Given the description of an element on the screen output the (x, y) to click on. 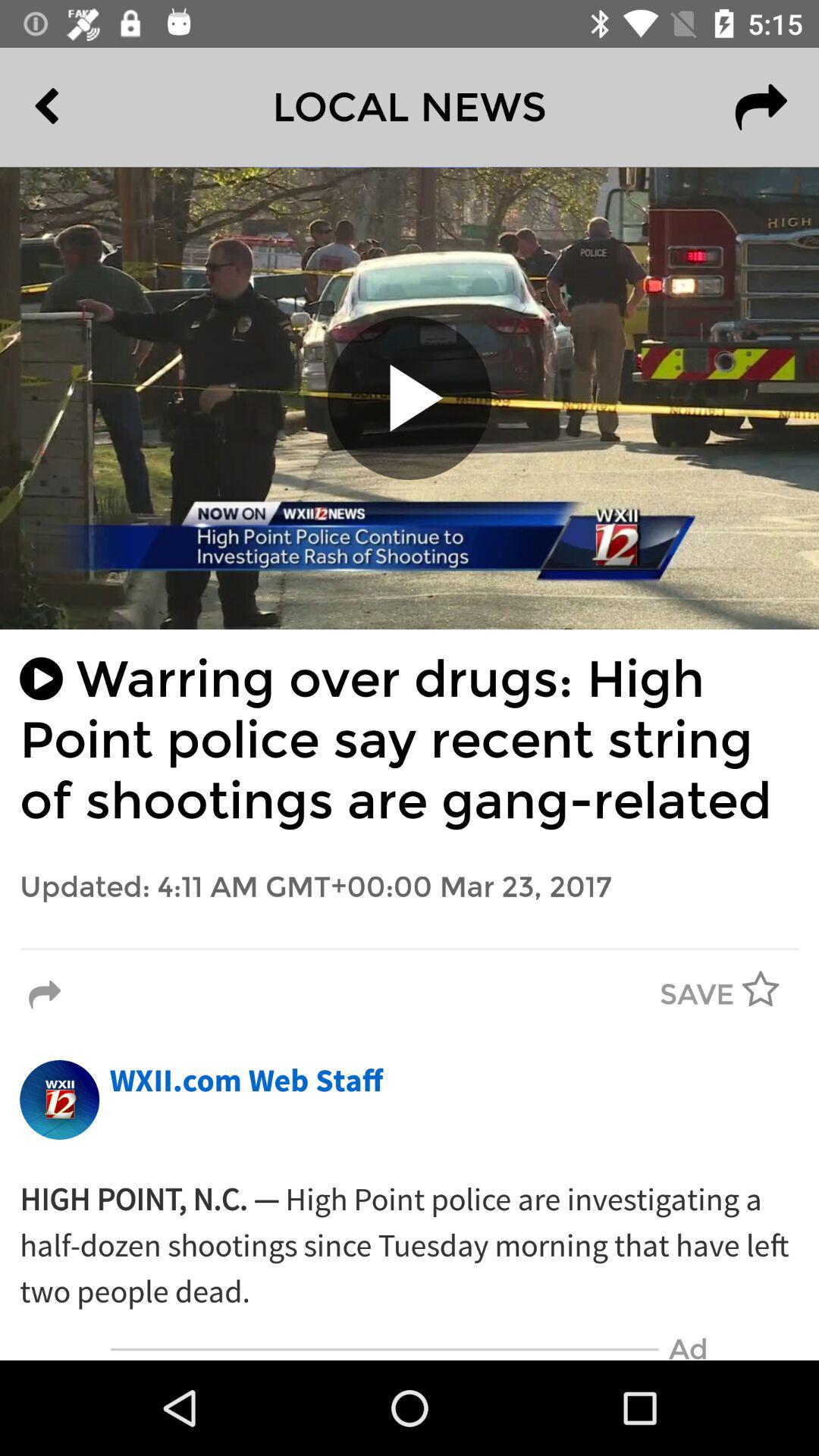
jump until the warring over drugs item (409, 739)
